Given the description of an element on the screen output the (x, y) to click on. 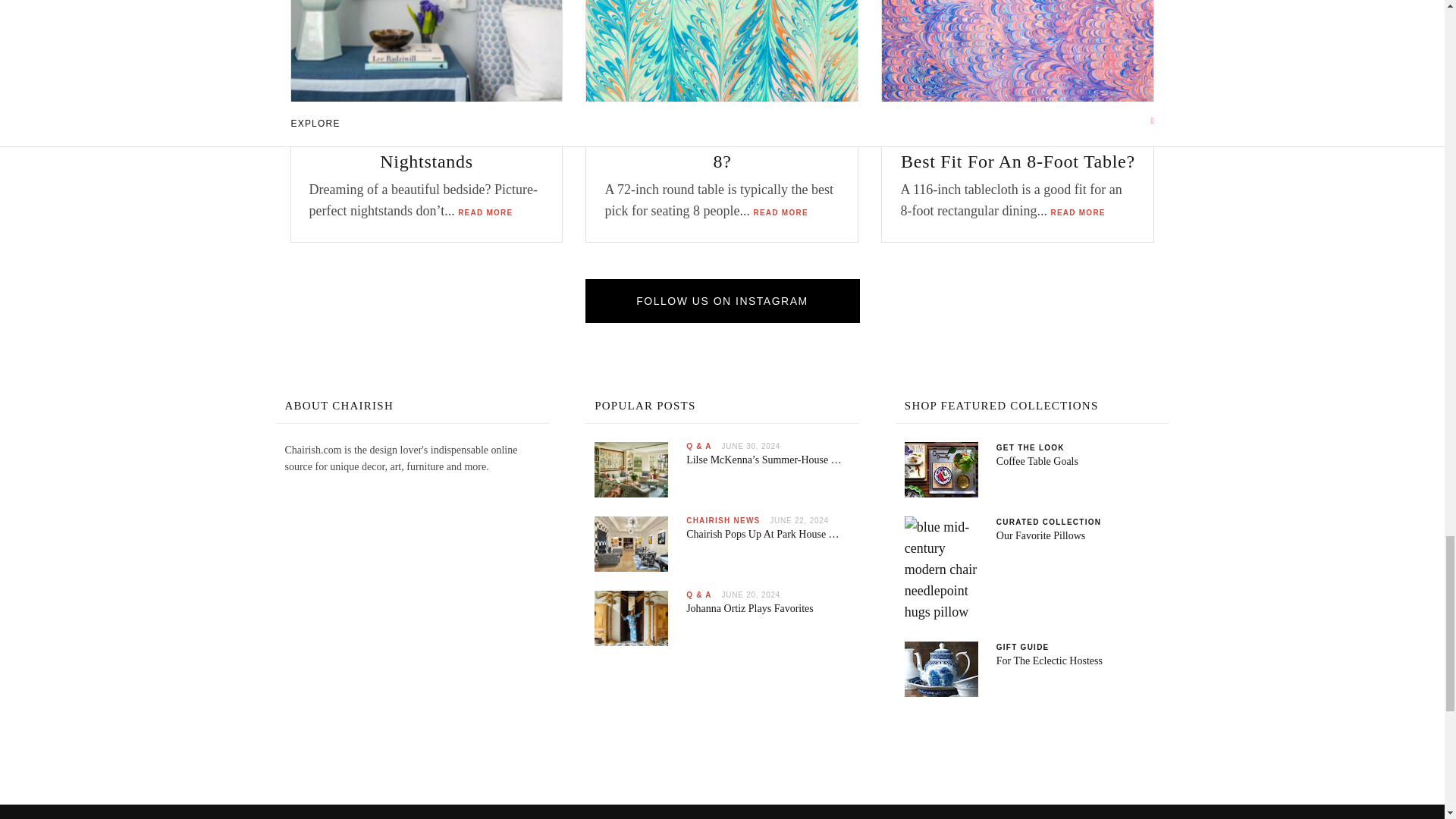
What Size Round Table Seats 8? (721, 55)
How to Decorate Bedroom Nightstands (426, 55)
How to Decorate Bedroom Nightstands (426, 56)
What Size Tablecloth is the Best Fit for an 8-Foot Table? (1017, 55)
What Size Round Table Seats 8? (721, 56)
